Given the description of an element on the screen output the (x, y) to click on. 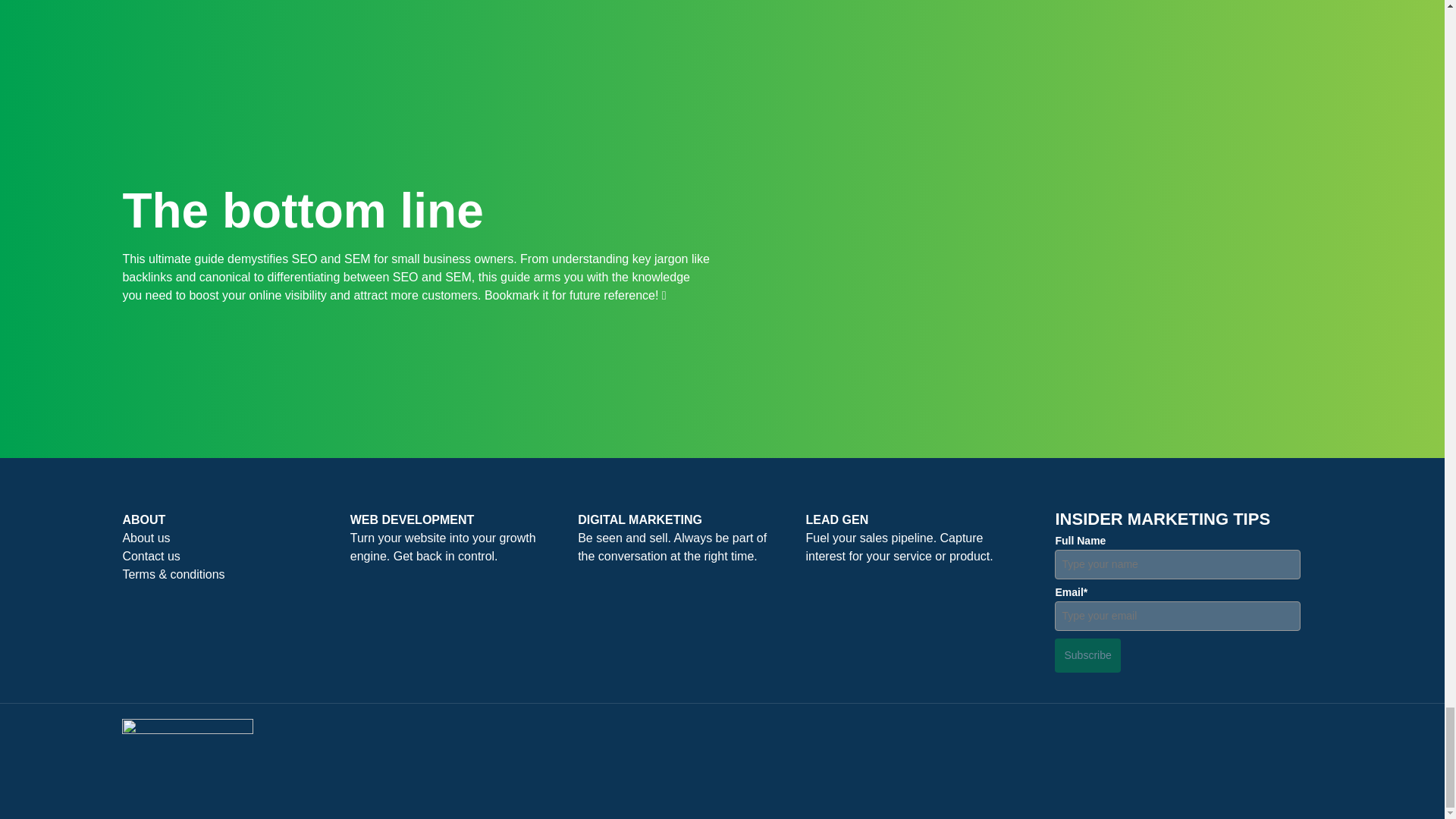
Subscribe (1086, 655)
About us (220, 538)
Contact us (220, 556)
